Given the description of an element on the screen output the (x, y) to click on. 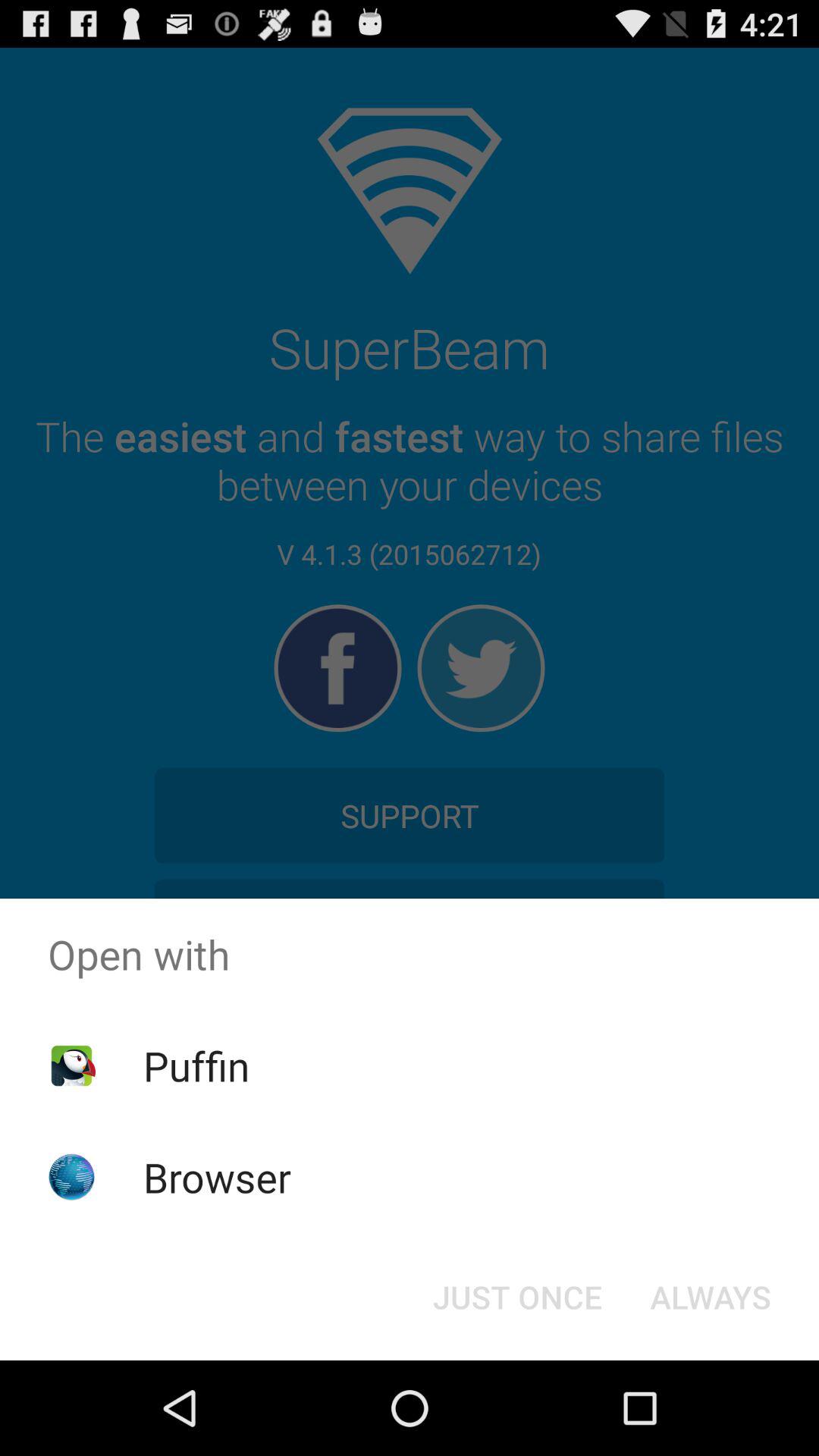
press the item above browser (196, 1065)
